Given the description of an element on the screen output the (x, y) to click on. 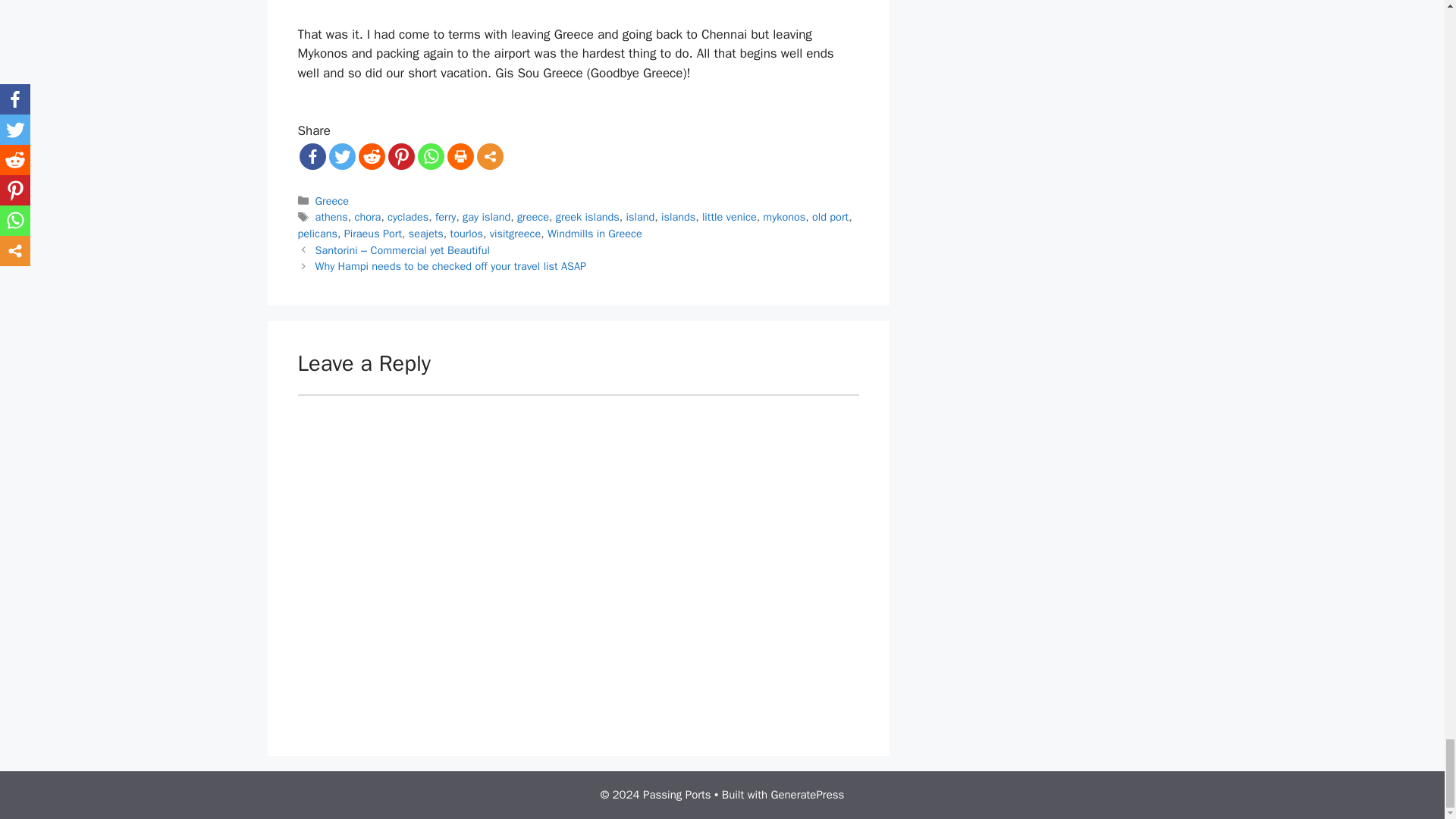
Pinterest (401, 156)
chora (368, 216)
Reddit (371, 156)
Print (460, 156)
Facebook (311, 156)
ferry (445, 216)
athens (331, 216)
More (489, 156)
Whatsapp (430, 156)
Greece (332, 201)
